Given the description of an element on the screen output the (x, y) to click on. 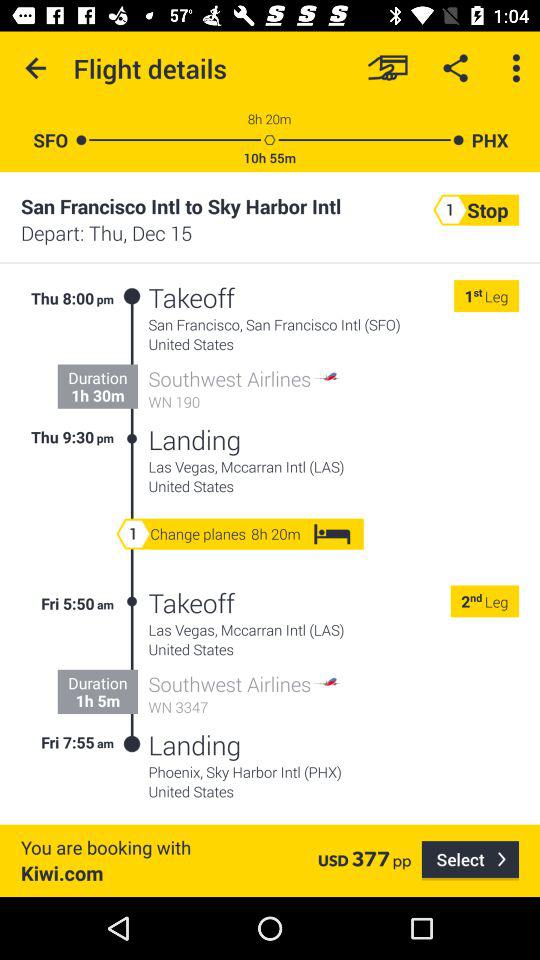
select icon to the left of flight details item (36, 68)
